Given the description of an element on the screen output the (x, y) to click on. 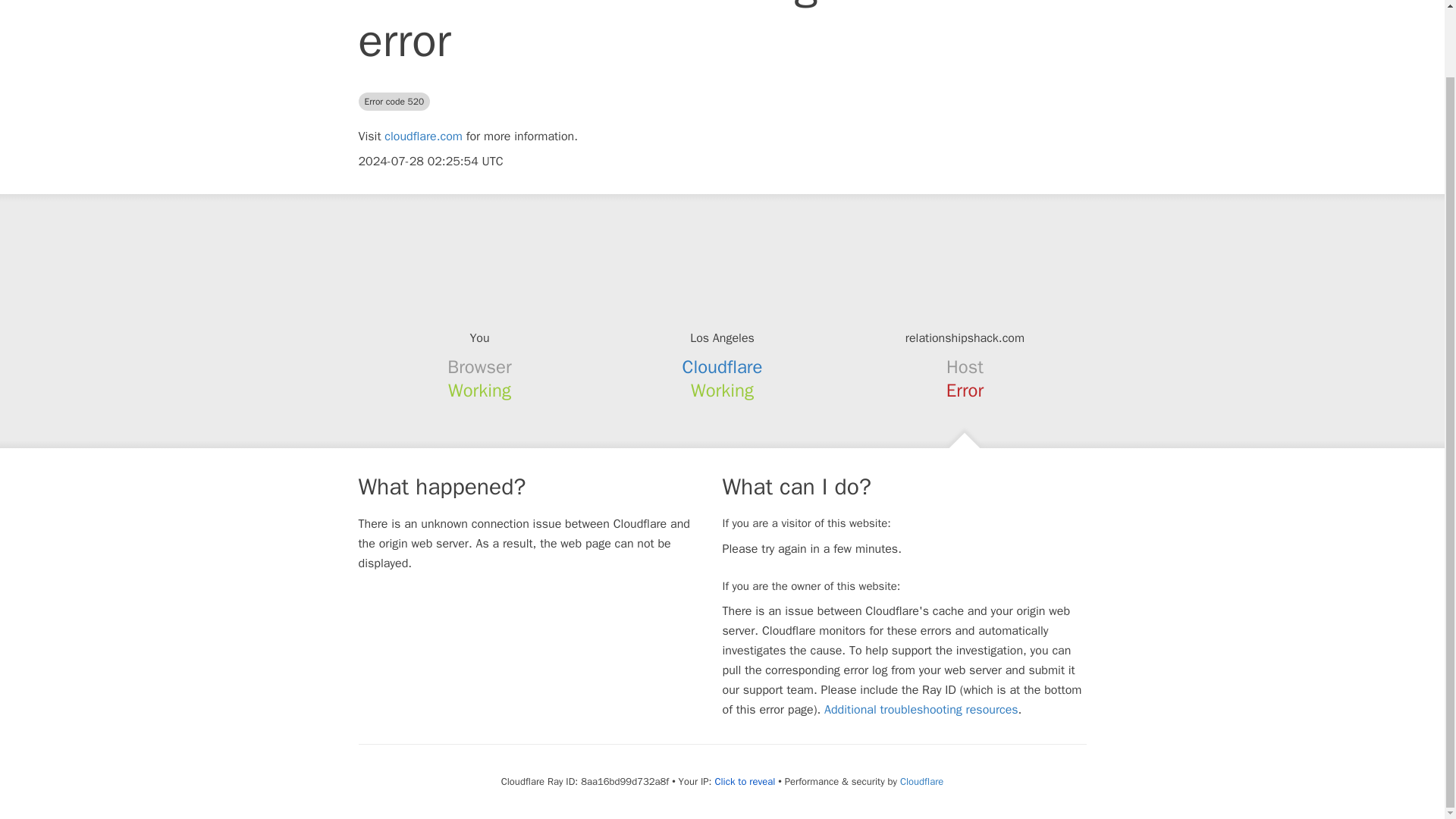
Cloudflare (722, 366)
Click to reveal (744, 781)
Cloudflare (921, 780)
Additional troubleshooting resources (920, 709)
cloudflare.com (423, 136)
